Given the description of an element on the screen output the (x, y) to click on. 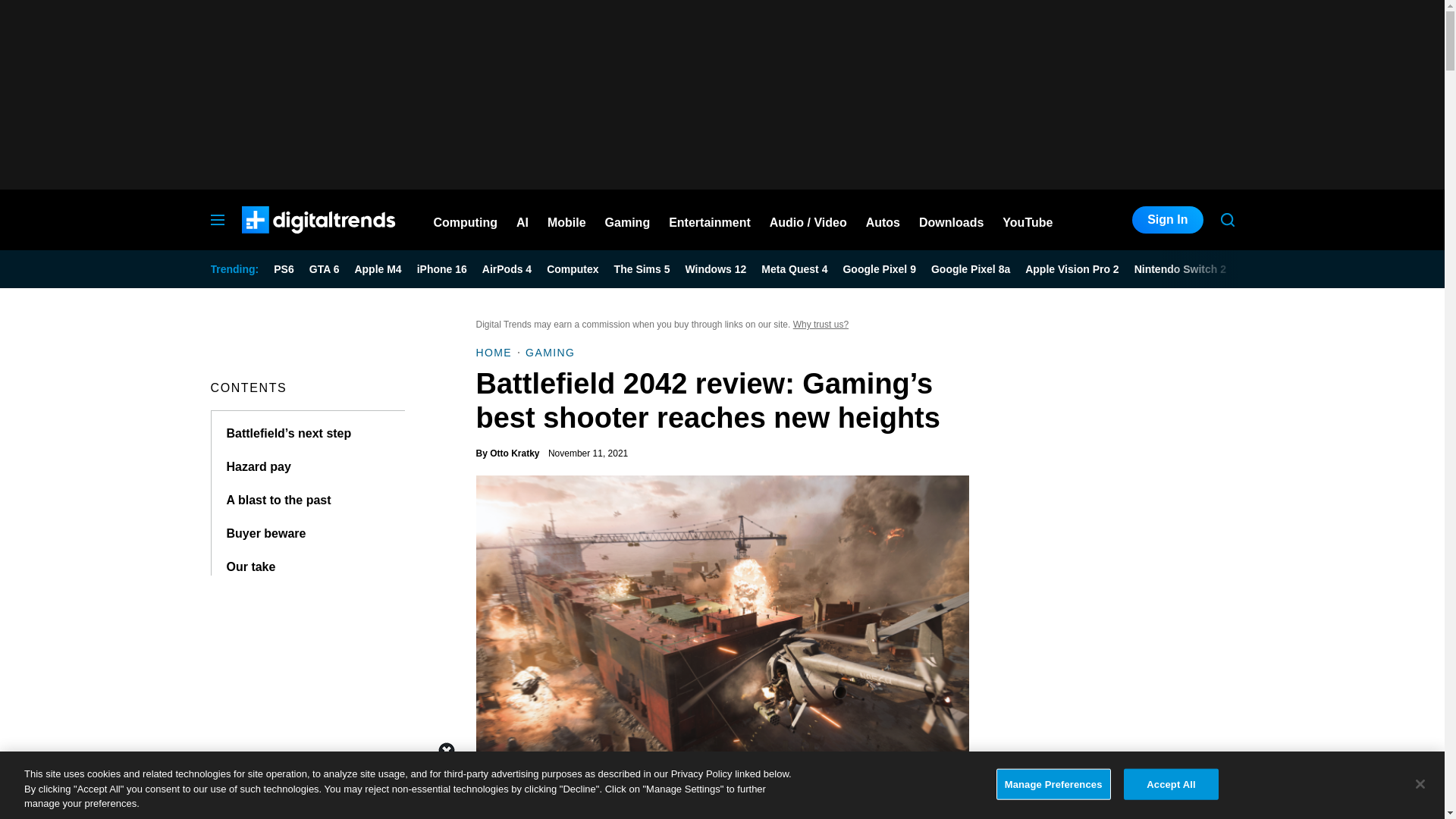
Computing (465, 219)
3rd party ad content (721, 785)
Sign In (1167, 219)
Entertainment (709, 219)
Downloads (951, 219)
